Given the description of an element on the screen output the (x, y) to click on. 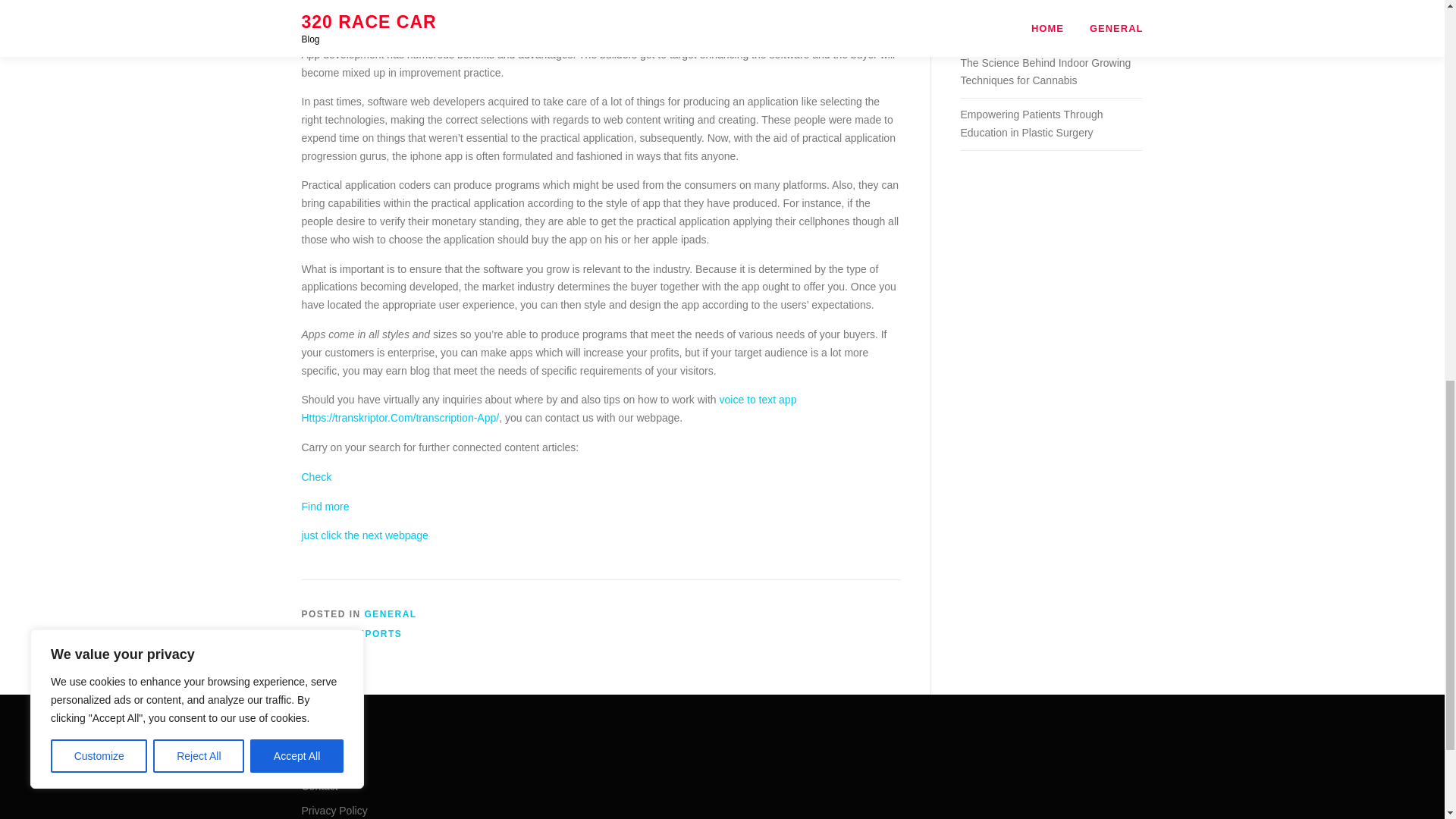
options (522, 24)
GENERAL (390, 614)
just click the next webpage (364, 535)
REPORTS (376, 633)
Find more (325, 506)
Check (316, 476)
